Given the description of an element on the screen output the (x, y) to click on. 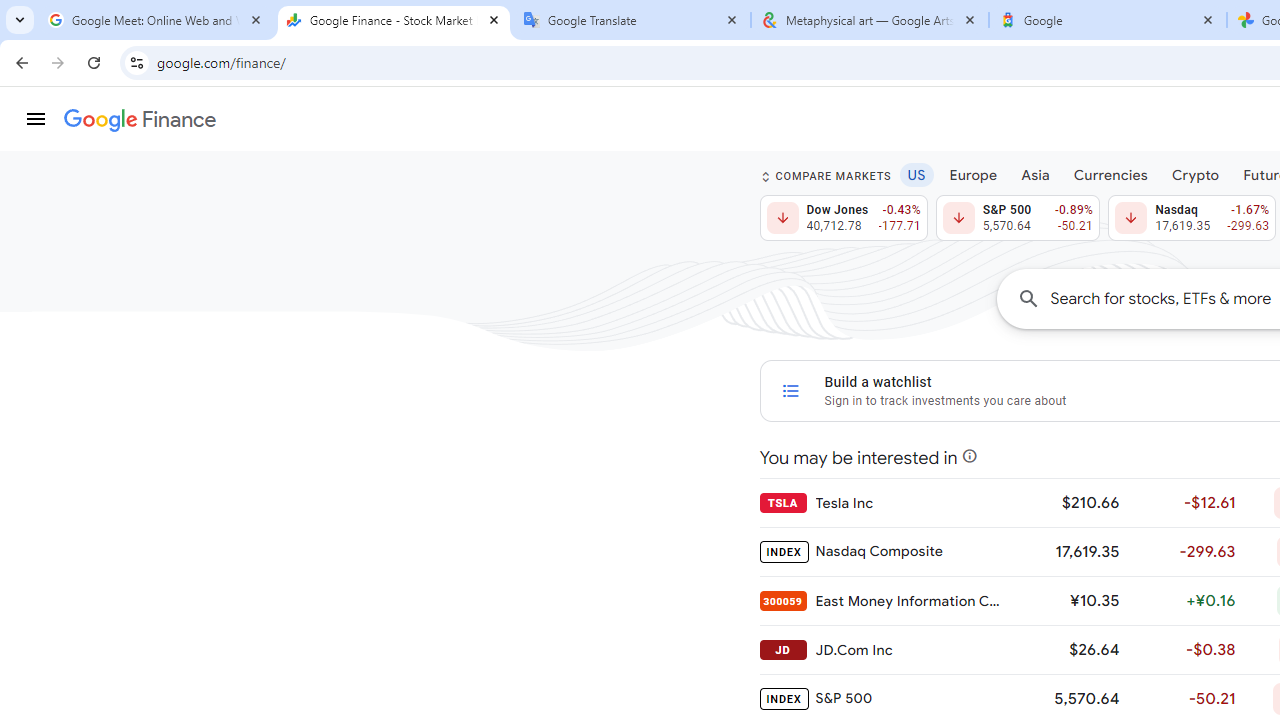
Finance (140, 120)
Asia (1035, 174)
Crypto (1195, 174)
COMPARE MARKETS (825, 176)
